Given the description of an element on the screen output the (x, y) to click on. 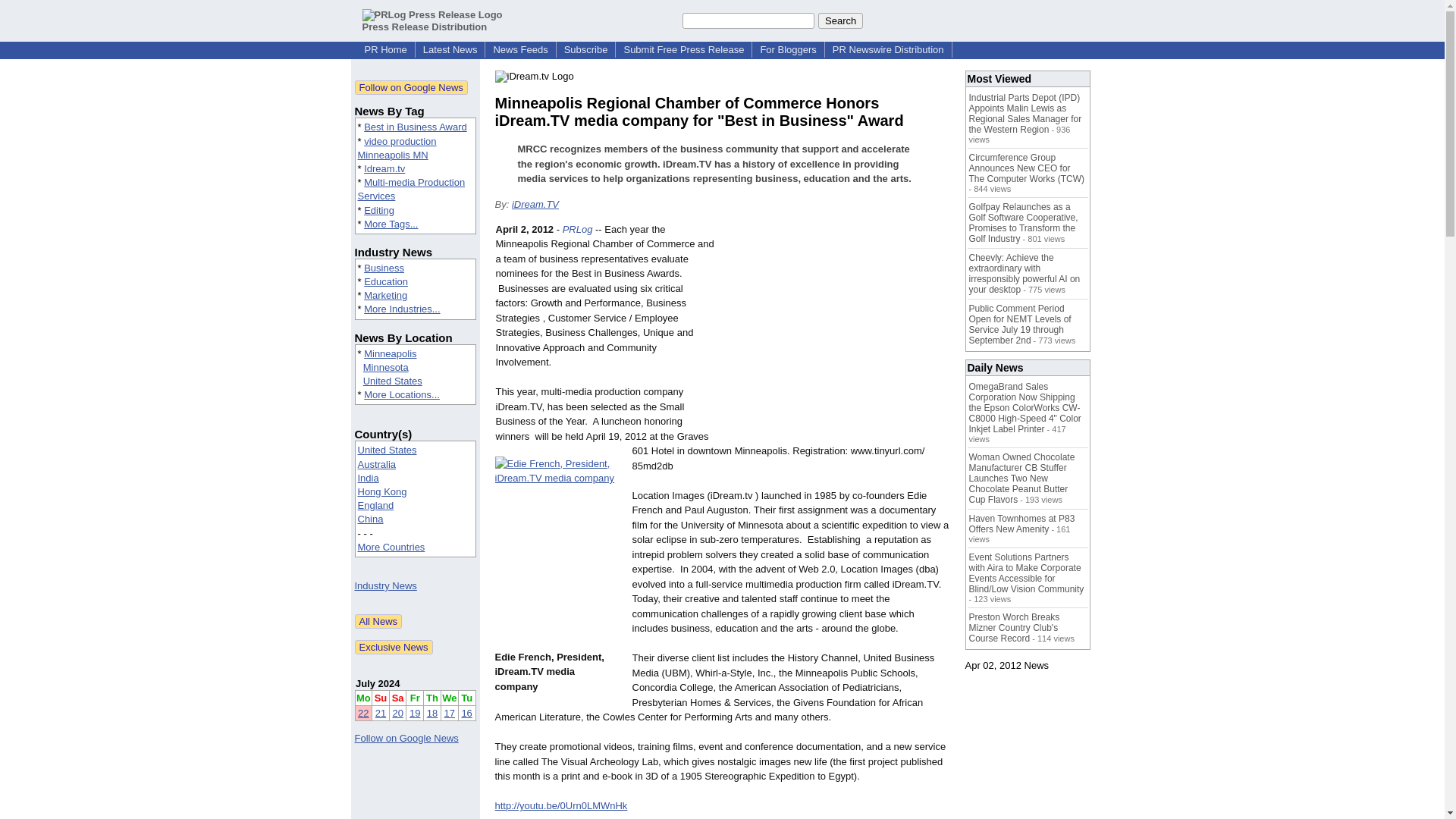
Exclusive News (393, 646)
video production Minneapolis MN (397, 147)
PR Newswire Distribution (888, 49)
Click on an option to filter or browse by that option (415, 498)
Minneapolis (390, 353)
Industry News (385, 585)
England (376, 505)
Press Release Distribution (432, 20)
Follow on Google News (411, 87)
More Tags... (390, 224)
All News (379, 621)
Search (840, 20)
Education (385, 281)
More Countries (391, 546)
All News (379, 621)
